Given the description of an element on the screen output the (x, y) to click on. 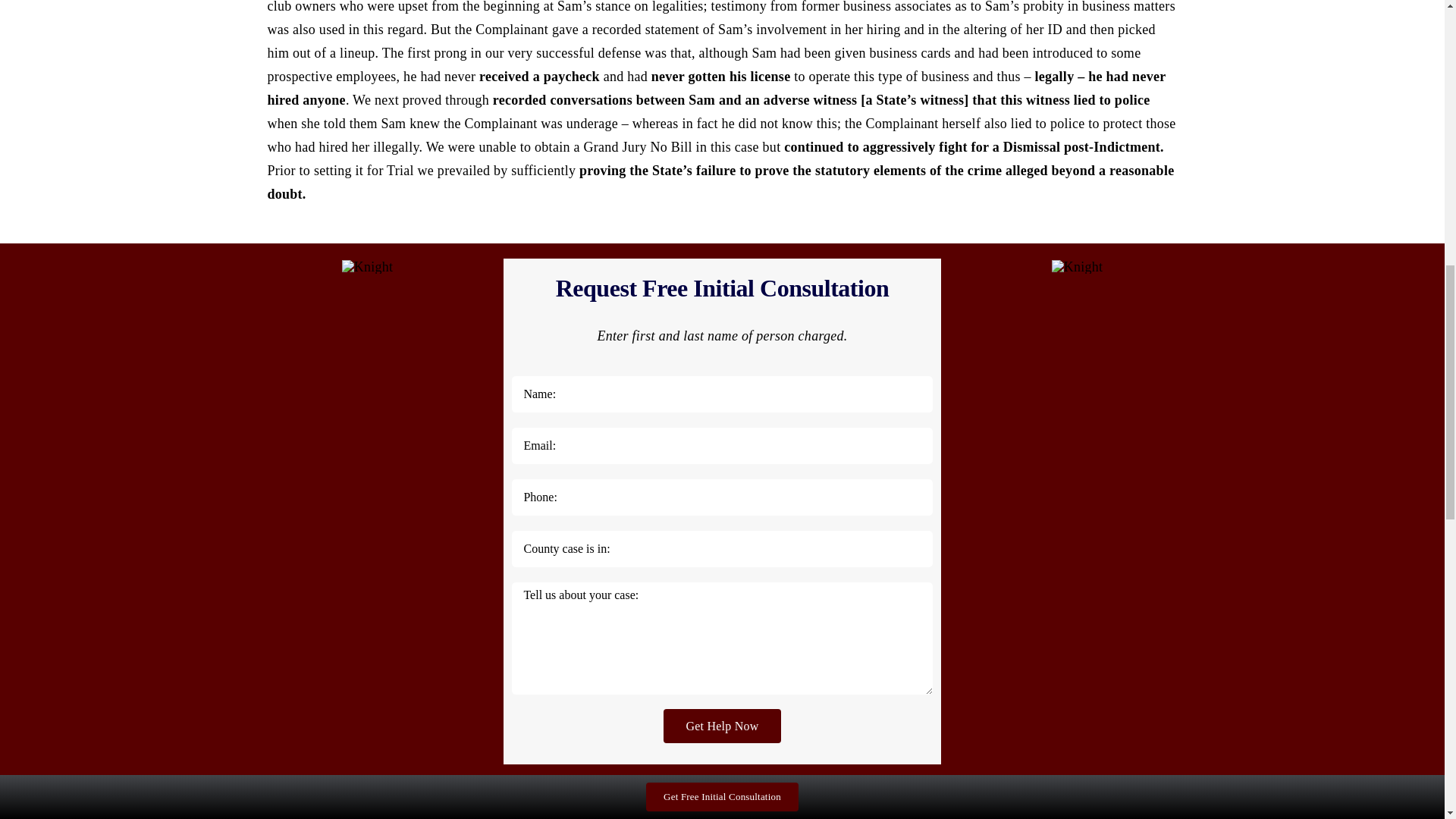
Get Help Now (721, 725)
knight-face (1077, 266)
knight-face (367, 266)
Get Help Now (721, 725)
